Given the description of an element on the screen output the (x, y) to click on. 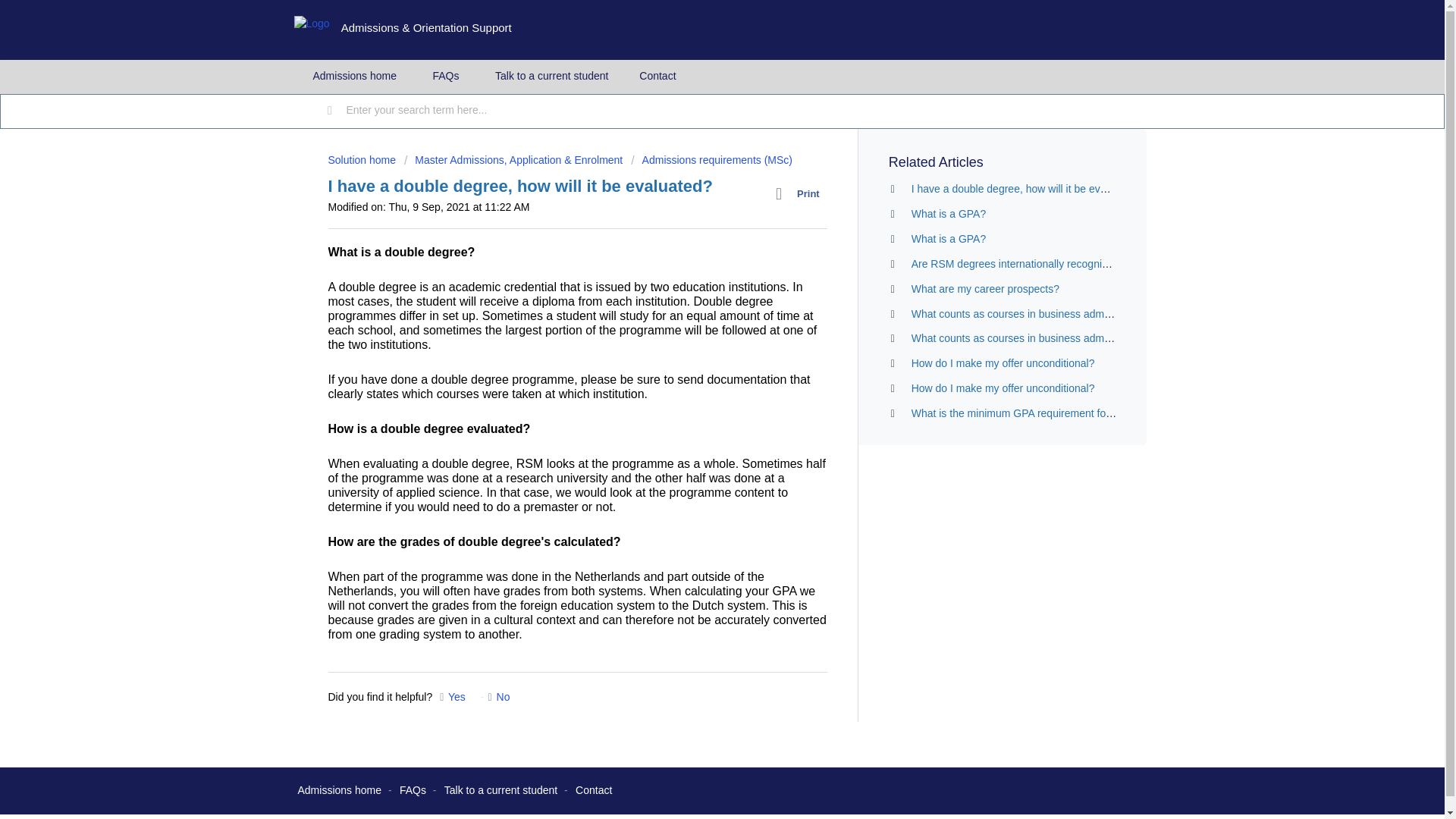
Admissions home (354, 76)
Talk to a current student (500, 789)
FAQs (412, 789)
How do I make my offer unconditional? (1002, 387)
What are my career prospects? (985, 288)
What is a GPA? (949, 238)
What counts as courses in business administration? (1033, 337)
Solution home (362, 159)
How do I make my offer unconditional? (1002, 363)
Are RSM degrees internationally recognised? (1018, 263)
Print (801, 193)
Contact (657, 76)
What counts as courses in business administration? (1033, 313)
FAQs (446, 76)
What is a GPA? (949, 214)
